Given the description of an element on the screen output the (x, y) to click on. 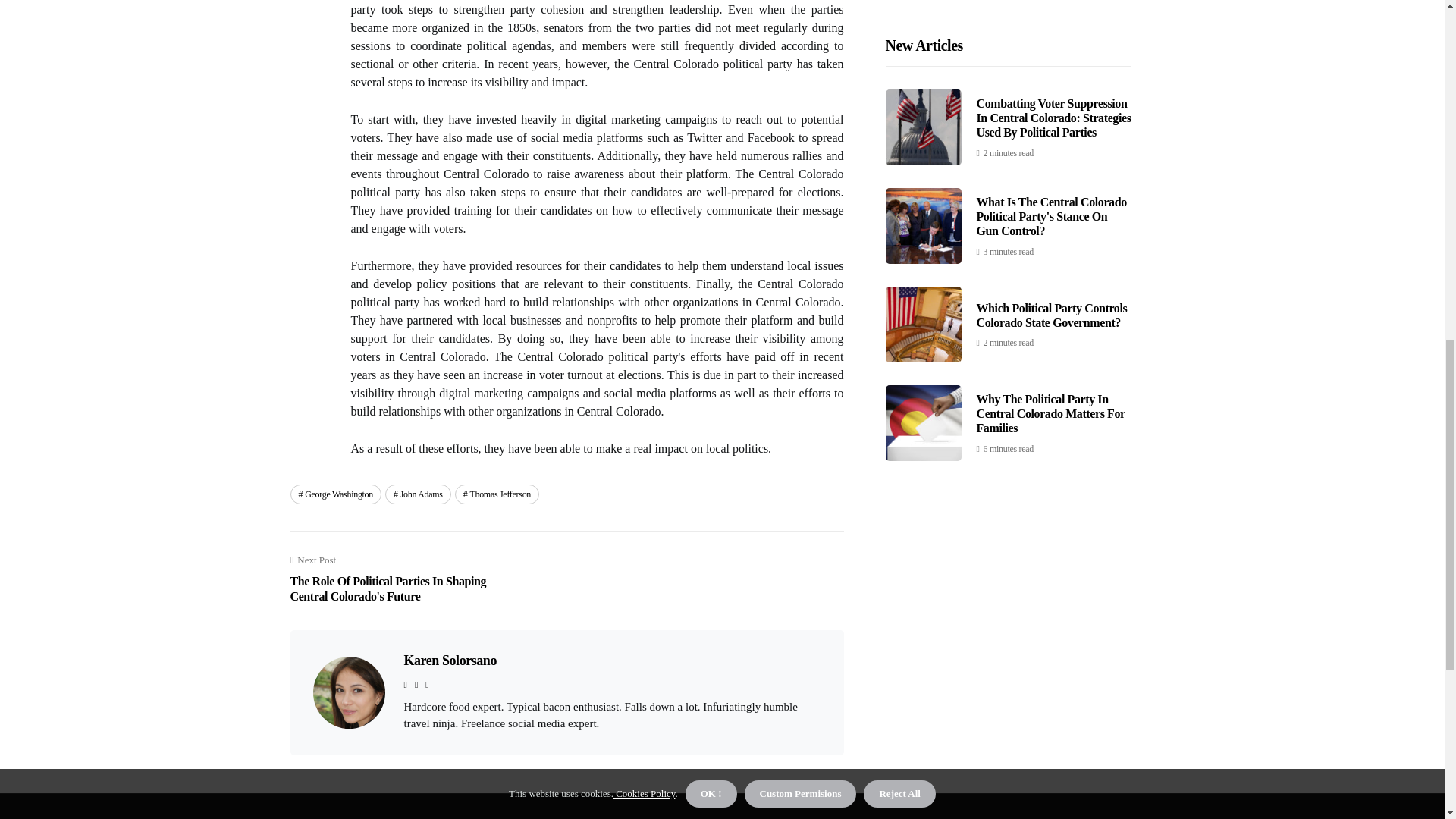
Thomas Jefferson (496, 494)
George Washington (335, 494)
John Adams (418, 494)
Karen Solorsano (449, 660)
